Given the description of an element on the screen output the (x, y) to click on. 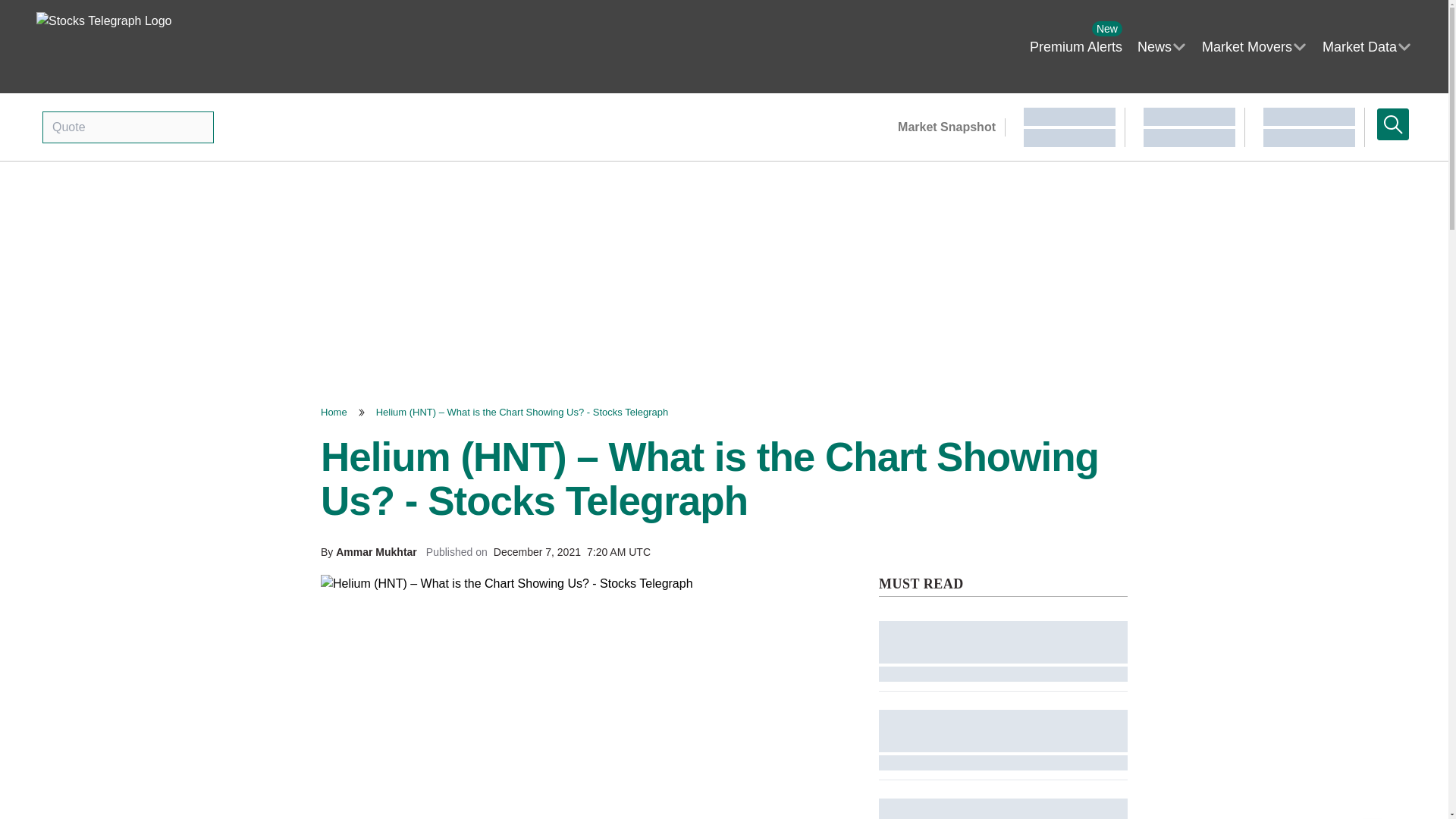
Ammar Mukhtar (376, 551)
Home (1075, 46)
